Given the description of an element on the screen output the (x, y) to click on. 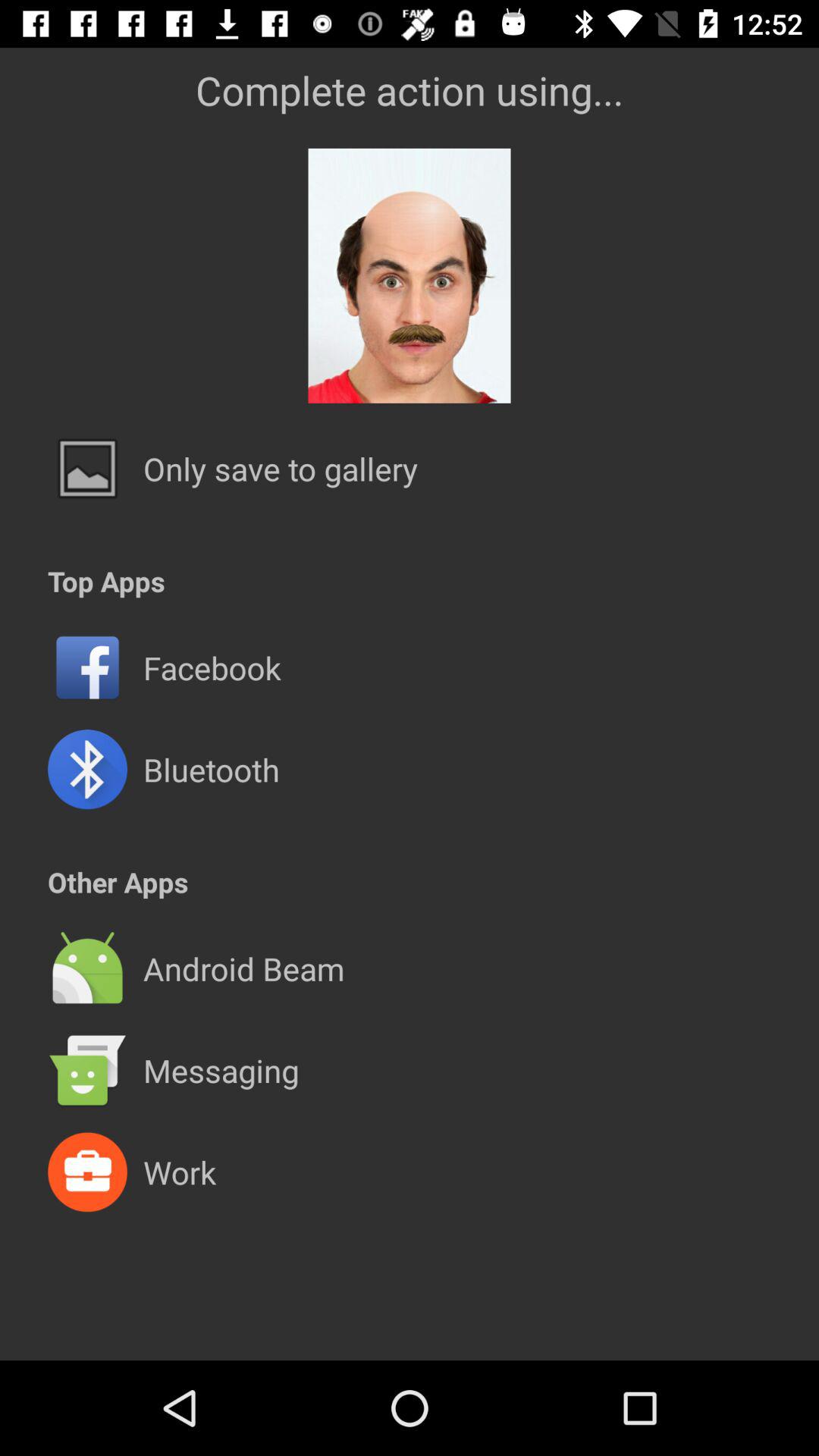
turn on app above the top apps icon (280, 468)
